Given the description of an element on the screen output the (x, y) to click on. 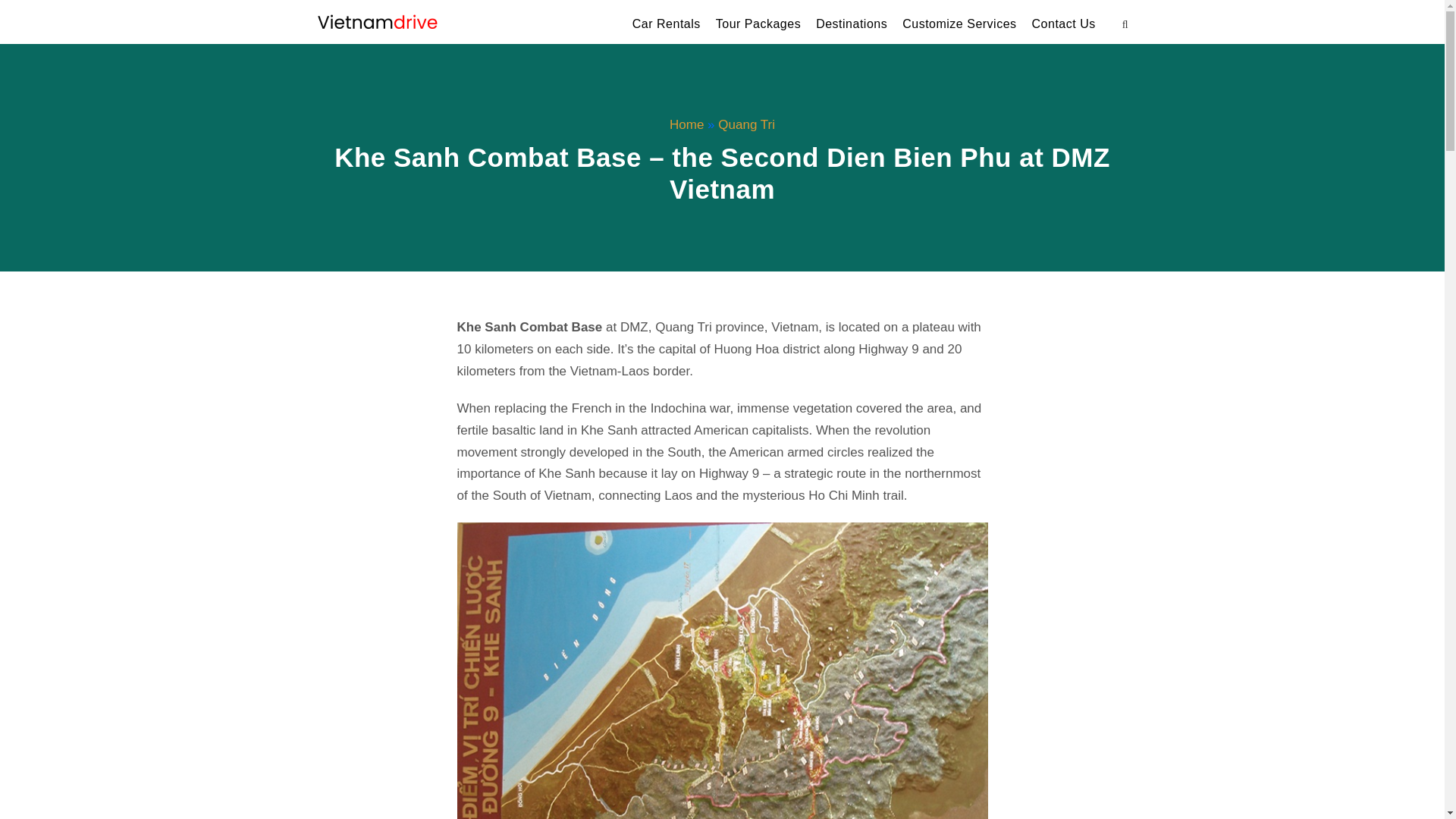
Vietnamdrive (377, 21)
